Given the description of an element on the screen output the (x, y) to click on. 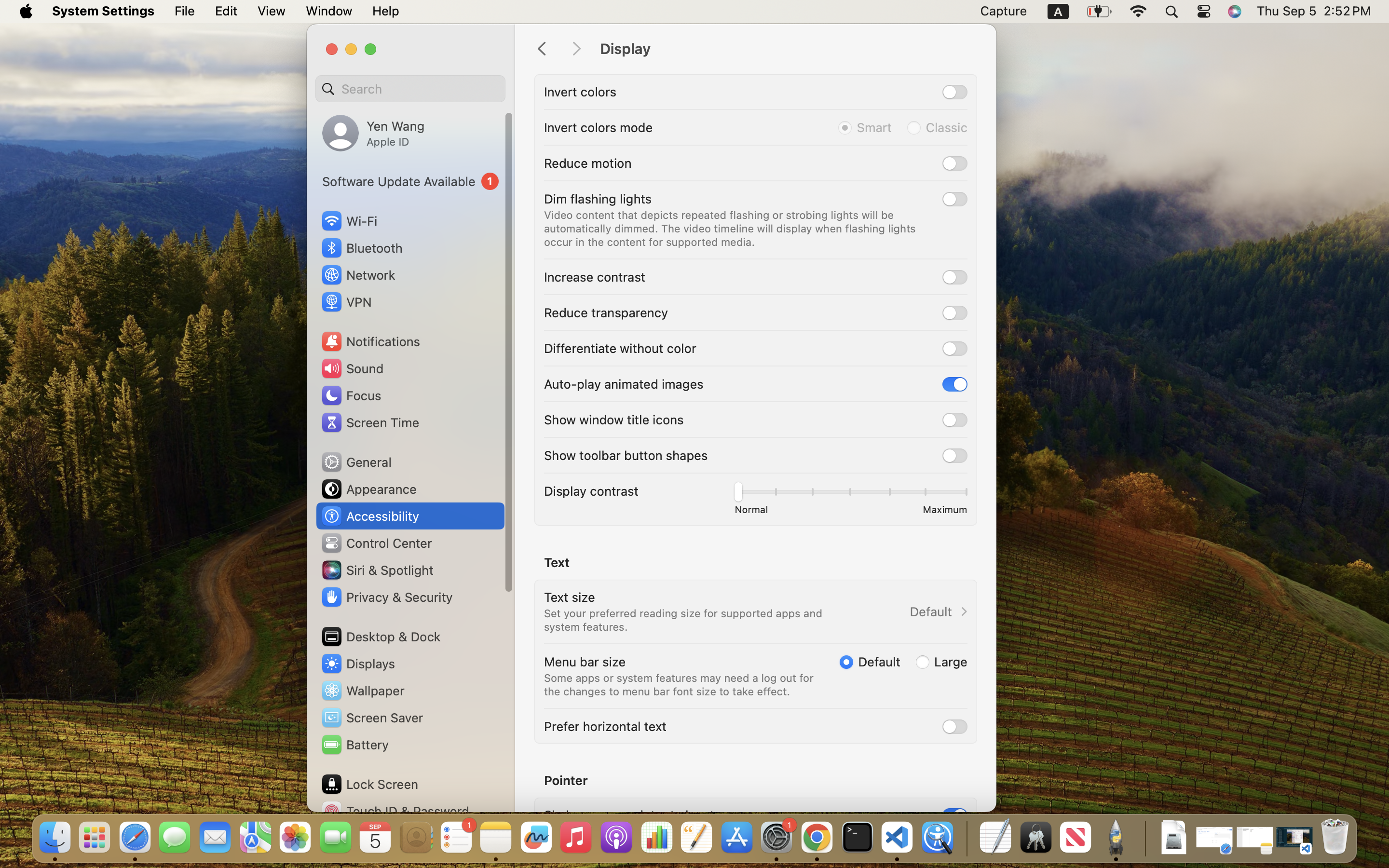
Screen Time Element type: AXStaticText (369, 422)
General Element type: AXStaticText (355, 461)
Appearance Element type: AXStaticText (368, 488)
Some apps or system features may need a log out for the changes to menu bar font size to take effect. Element type: AXStaticText (680, 684)
Touch ID & Password Element type: AXStaticText (394, 810)
